Given the description of an element on the screen output the (x, y) to click on. 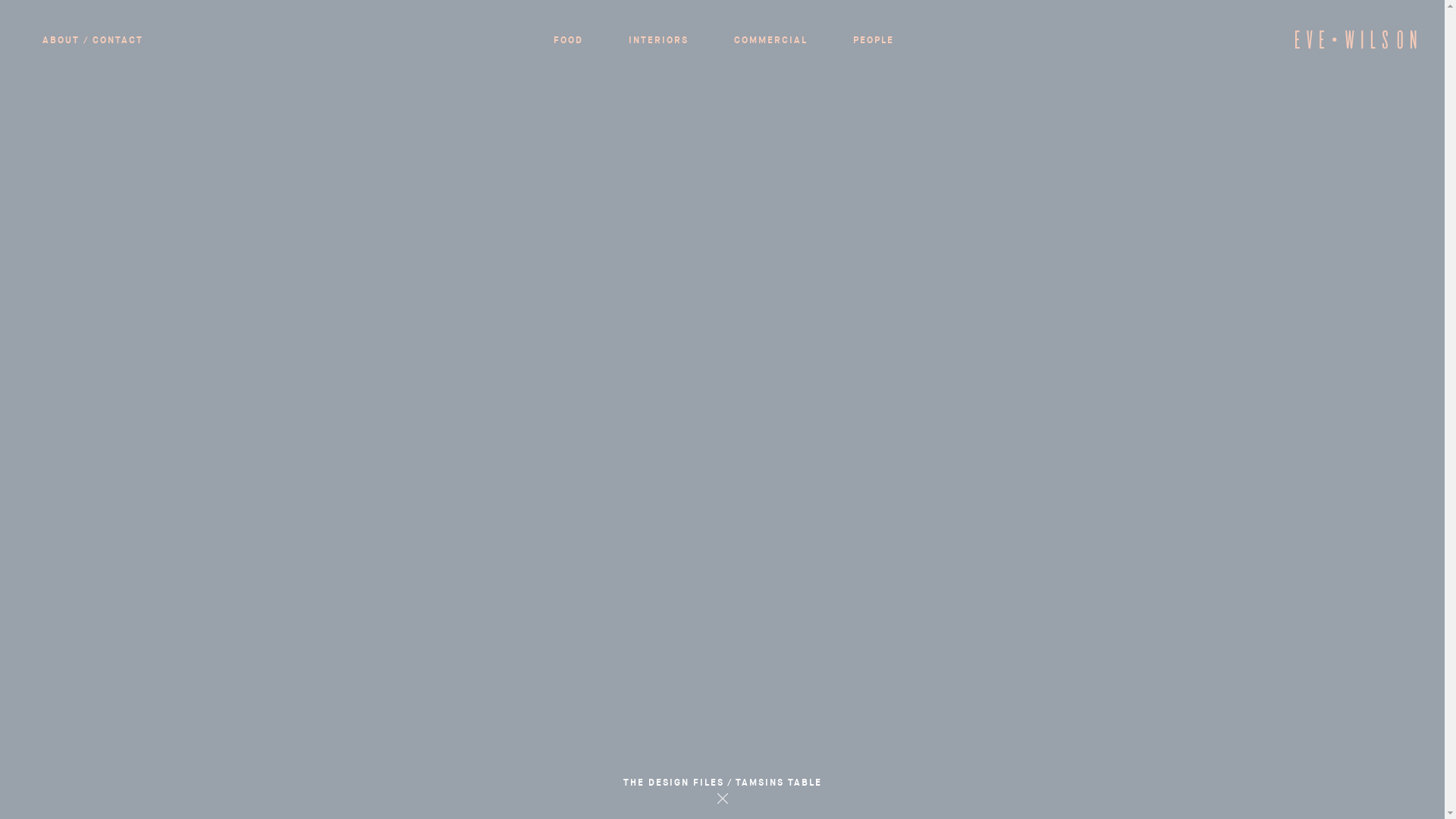
FOOD Element type: text (567, 40)
INTERIORS Element type: text (658, 40)
PEOPLE Element type: text (873, 40)
Eve Wilson Element type: hover (1355, 45)
ABOUT / CONTACT Element type: text (92, 40)
COMMERCIAL Element type: text (770, 40)
